Given the description of an element on the screen output the (x, y) to click on. 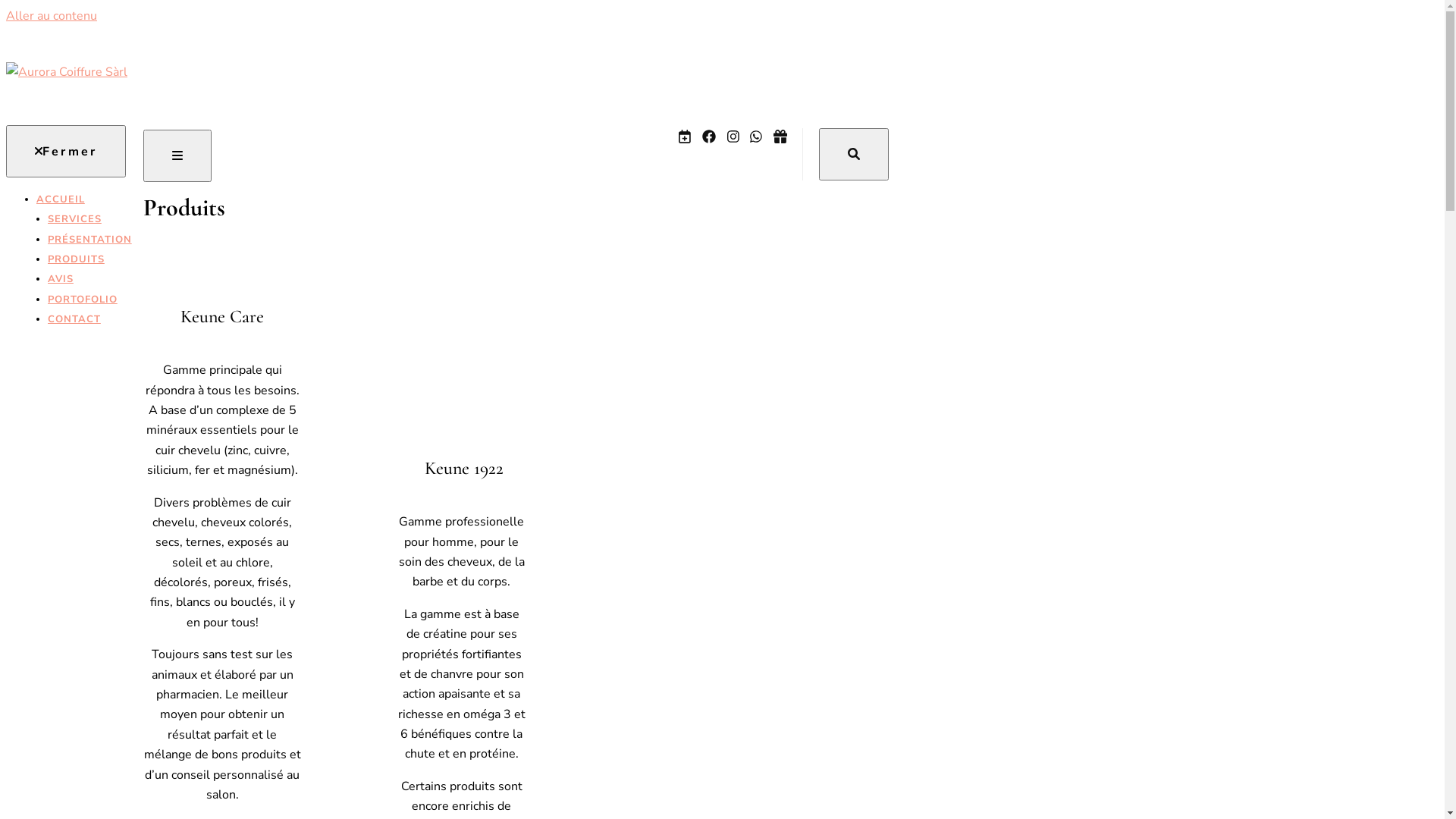
PORTOFOLIO Element type: text (89, 299)
CONTACT Element type: text (89, 319)
AVIS Element type: text (89, 278)
ACCUEIL Element type: text (83, 199)
PRODUITS Element type: text (89, 259)
Fermer Element type: text (65, 151)
Aller au contenu Element type: text (51, 15)
SERVICES Element type: text (89, 219)
